Given the description of an element on the screen output the (x, y) to click on. 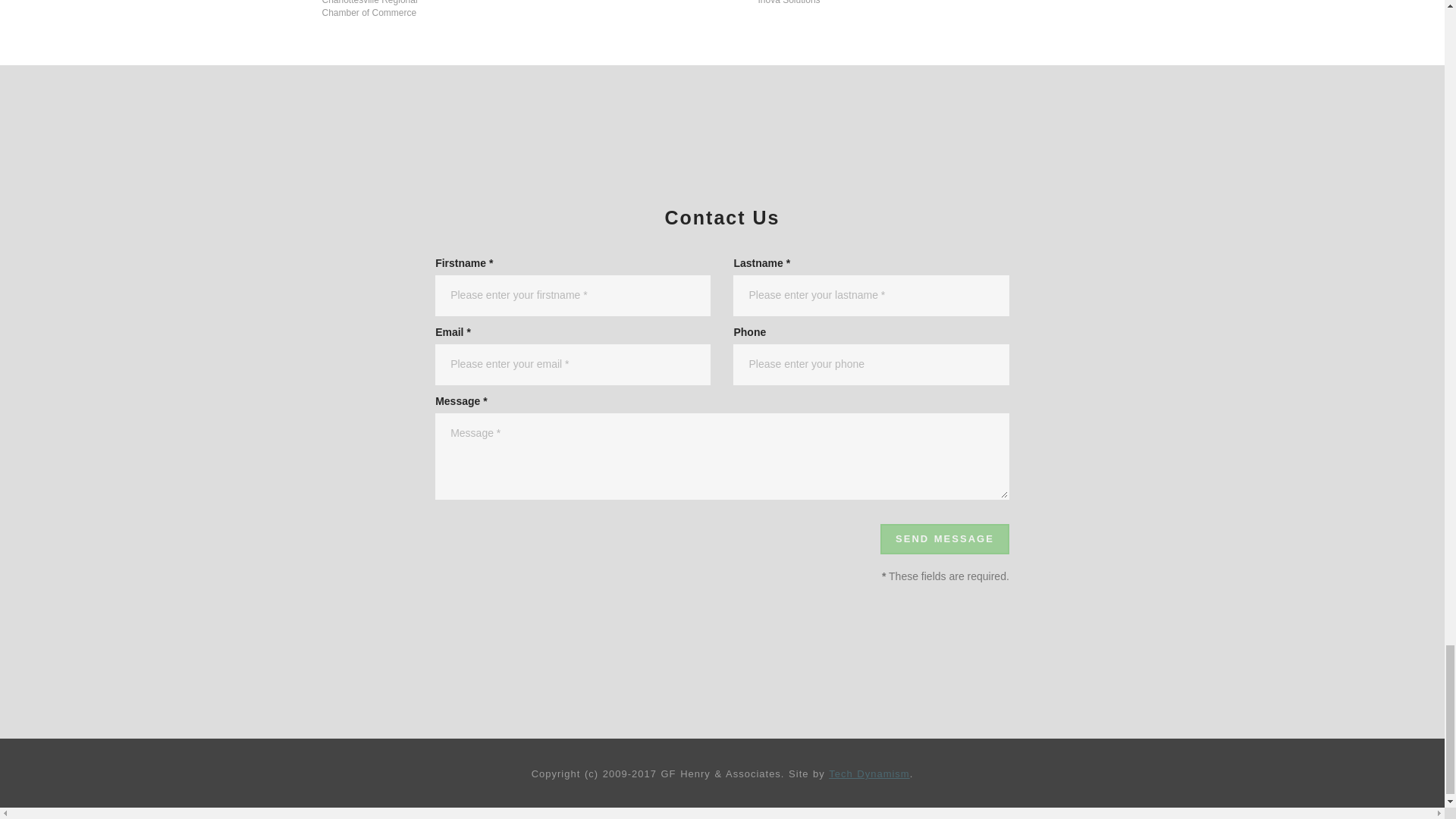
Tech Dynamism (868, 773)
SEND MESSAGE (944, 539)
SEND MESSAGE (944, 539)
